Given the description of an element on the screen output the (x, y) to click on. 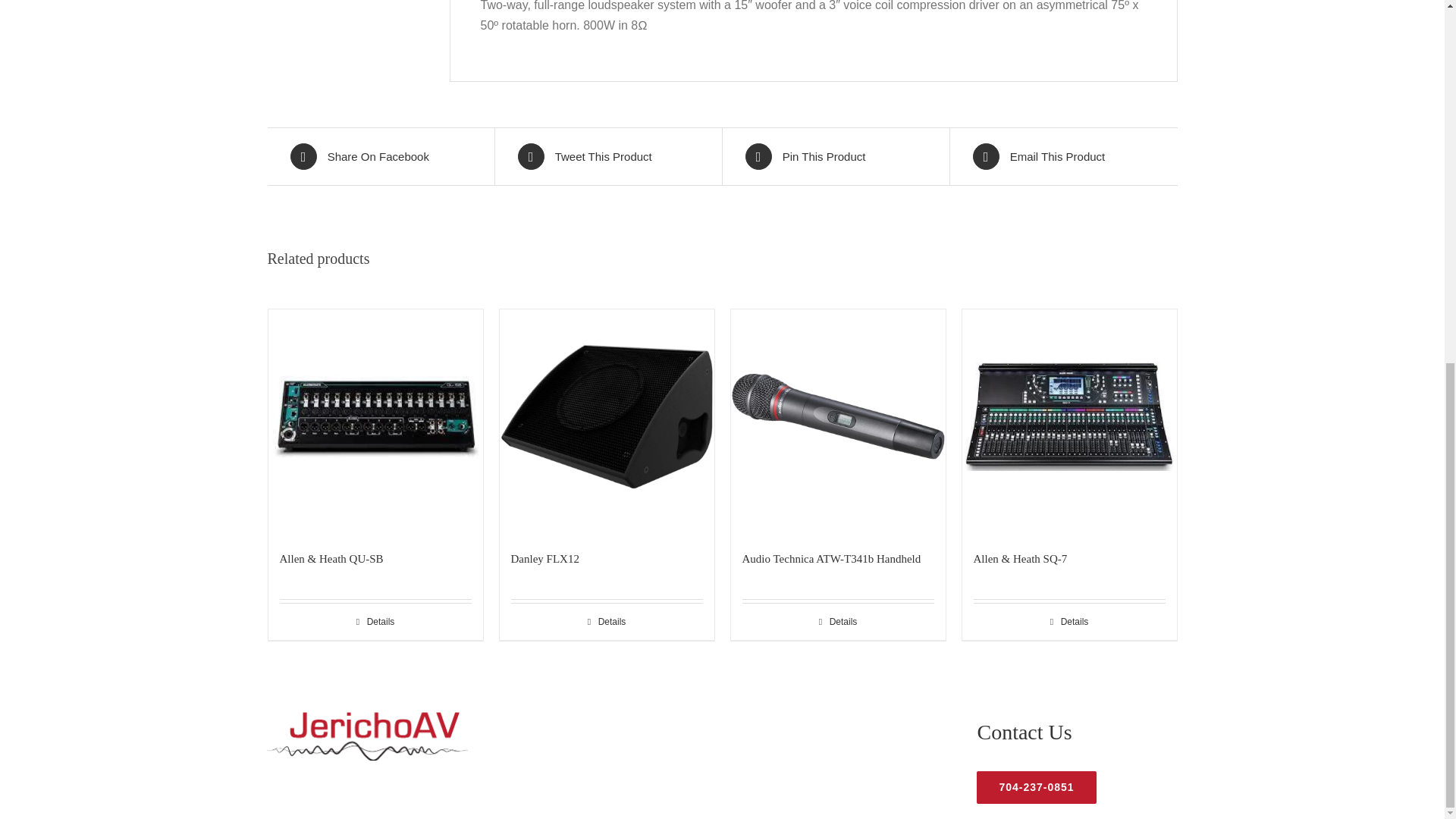
JAV-LOGO (366, 735)
